Given the description of an element on the screen output the (x, y) to click on. 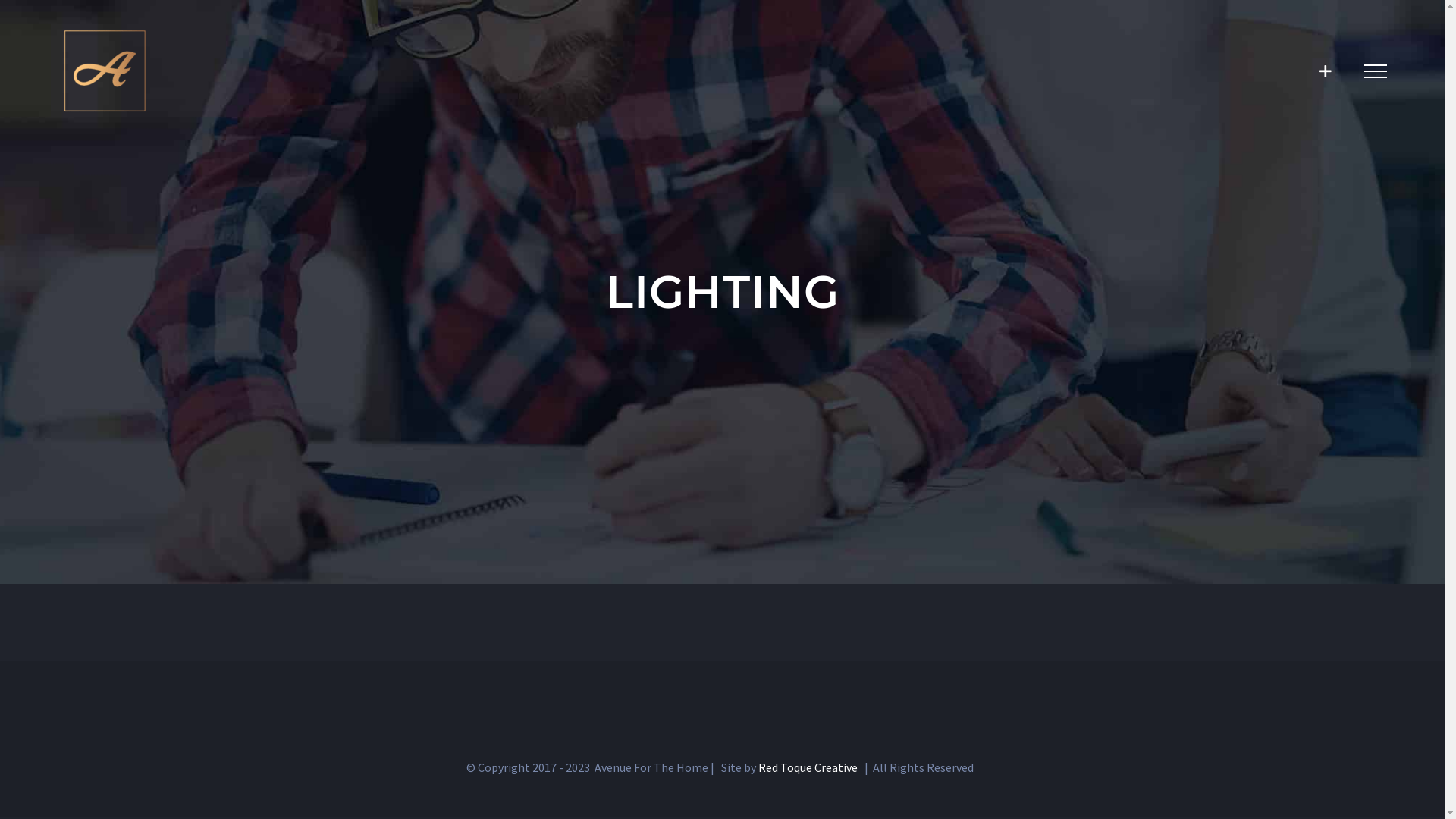
Red Toque Creative Element type: text (807, 767)
